Given the description of an element on the screen output the (x, y) to click on. 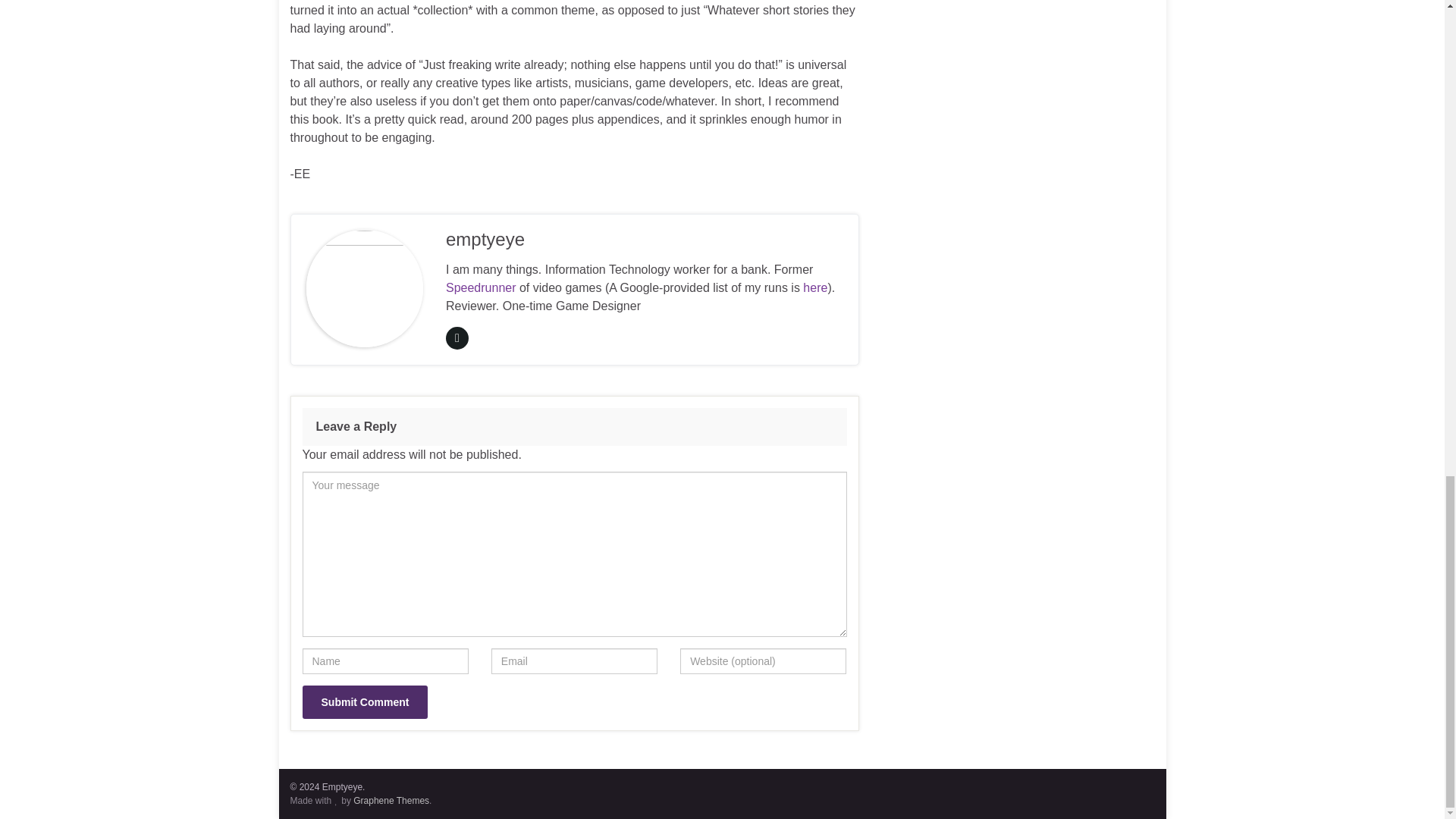
Submit Comment (364, 702)
